Given the description of an element on the screen output the (x, y) to click on. 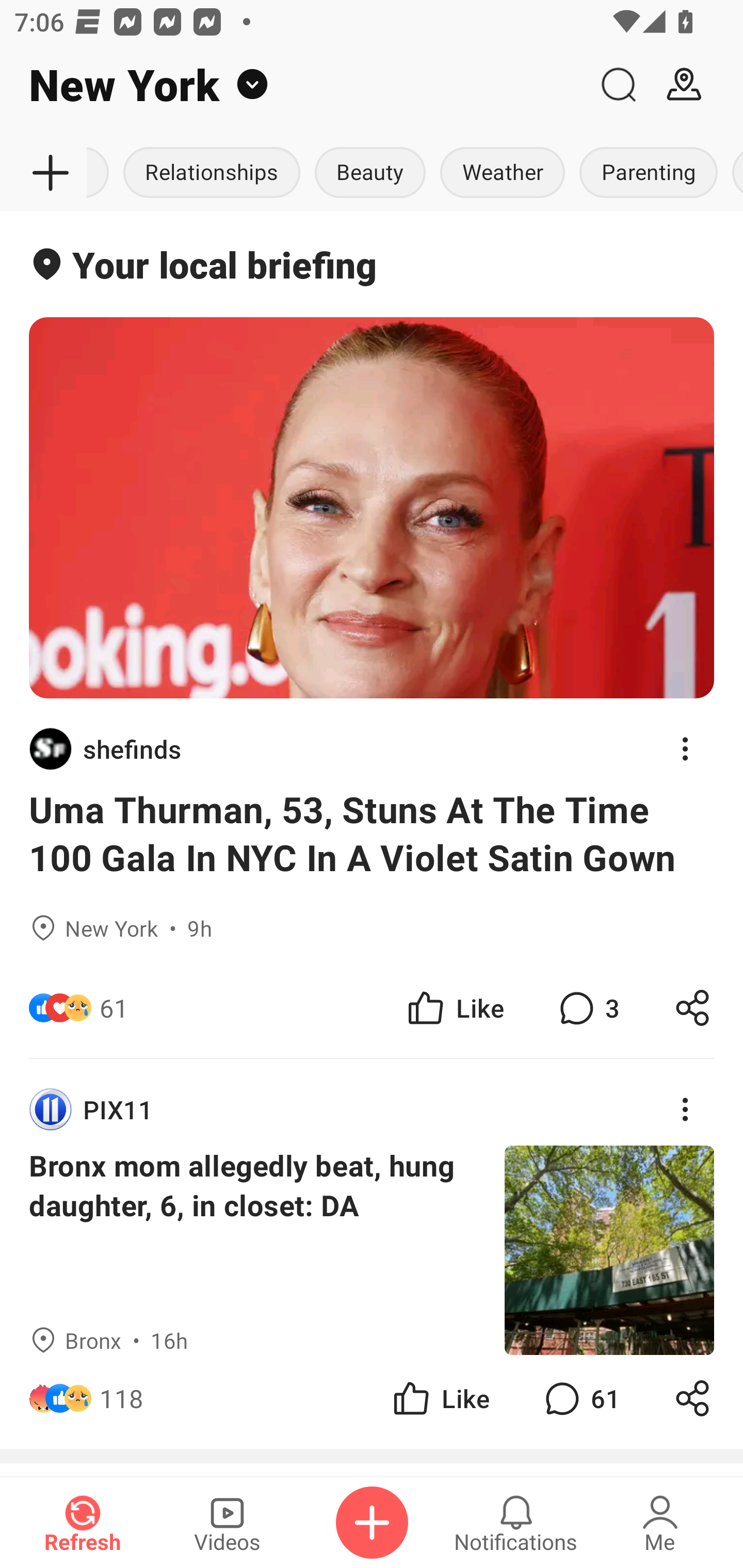
New York (292, 84)
Autos (100, 172)
Relationships (211, 172)
Beauty (370, 172)
Weather (502, 172)
Parenting (648, 172)
61 (113, 1007)
Like (454, 1007)
3 (587, 1007)
118 (121, 1397)
Like (439, 1397)
61 (579, 1397)
Videos (227, 1522)
Notifications (516, 1522)
Me (659, 1522)
